Given the description of an element on the screen output the (x, y) to click on. 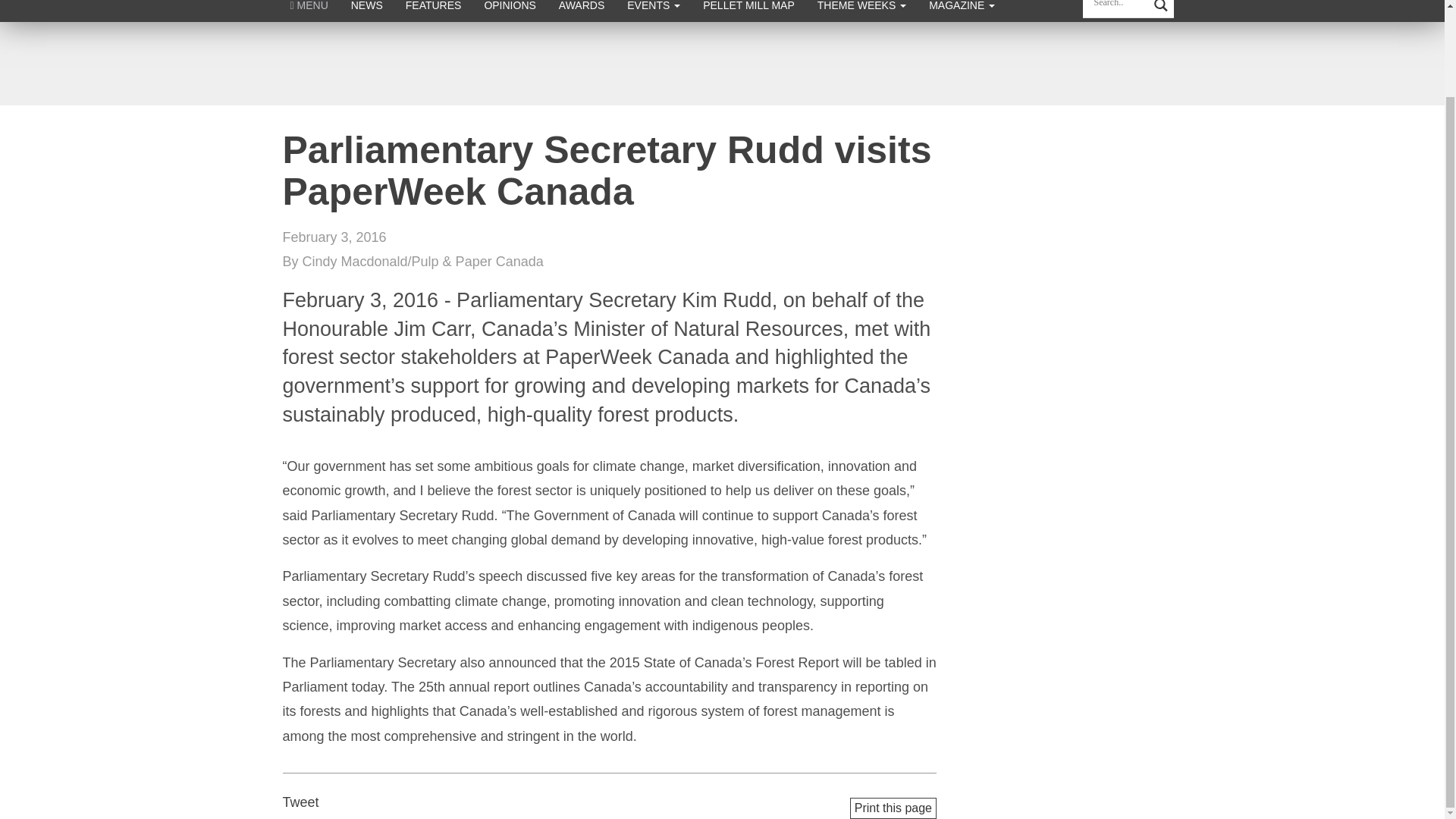
FEATURES (433, 11)
Click to show site navigation (309, 11)
OPINIONS (509, 11)
MAGAZINE (961, 11)
MENU (309, 11)
THEME WEEKS (861, 11)
EVENTS (653, 11)
NEWS (366, 11)
AWARDS (581, 11)
3rd party ad content (721, 63)
